Given the description of an element on the screen output the (x, y) to click on. 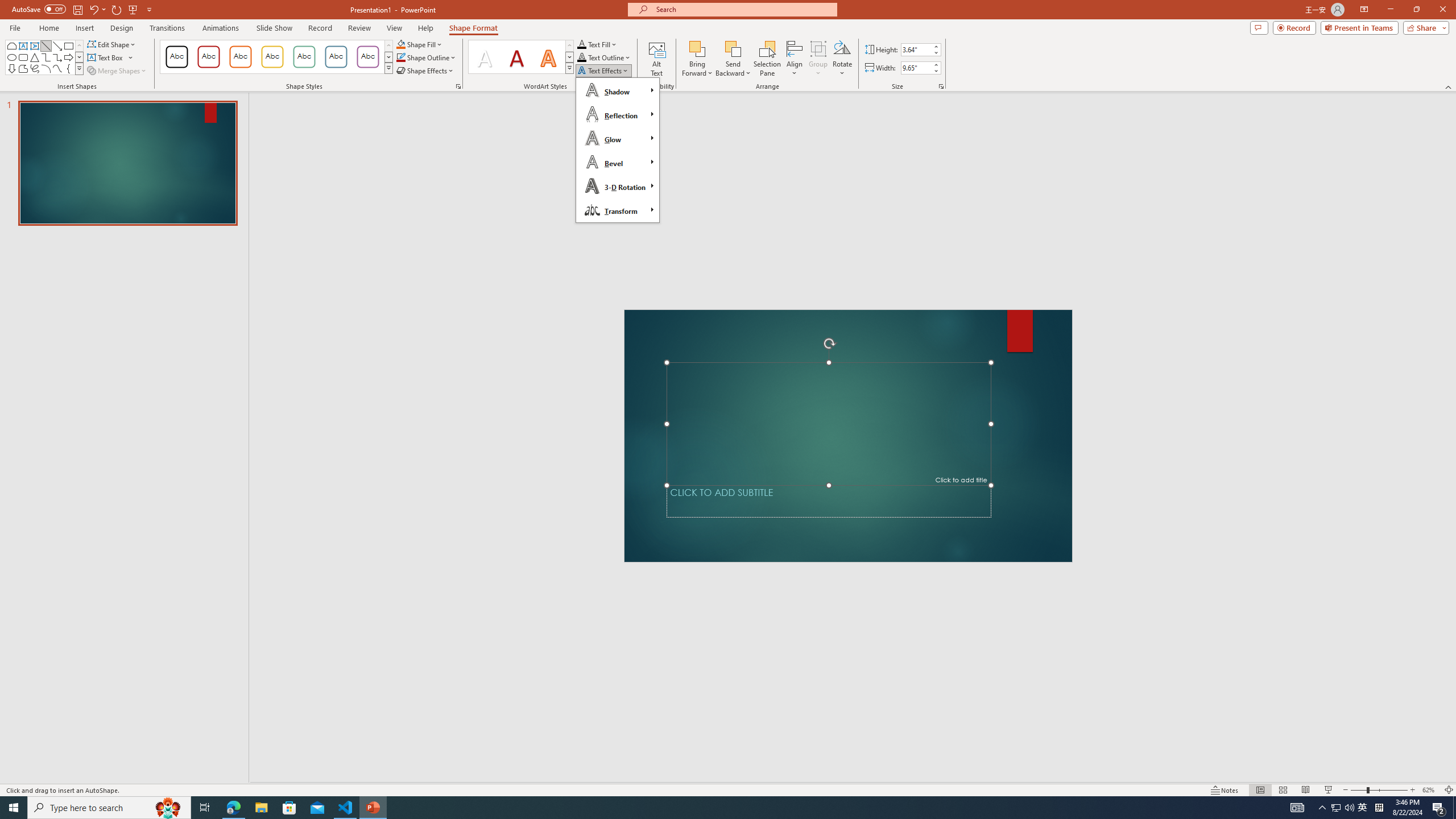
Colored Outline - Orange, Accent 2 (240, 56)
Text Fill RGB(0, 0, 0) (581, 44)
AutomationID: ShapeStylesGallery (276, 56)
Rotate (841, 58)
Colored Outline - Green, Accent 4 (304, 56)
